Given the description of an element on the screen output the (x, y) to click on. 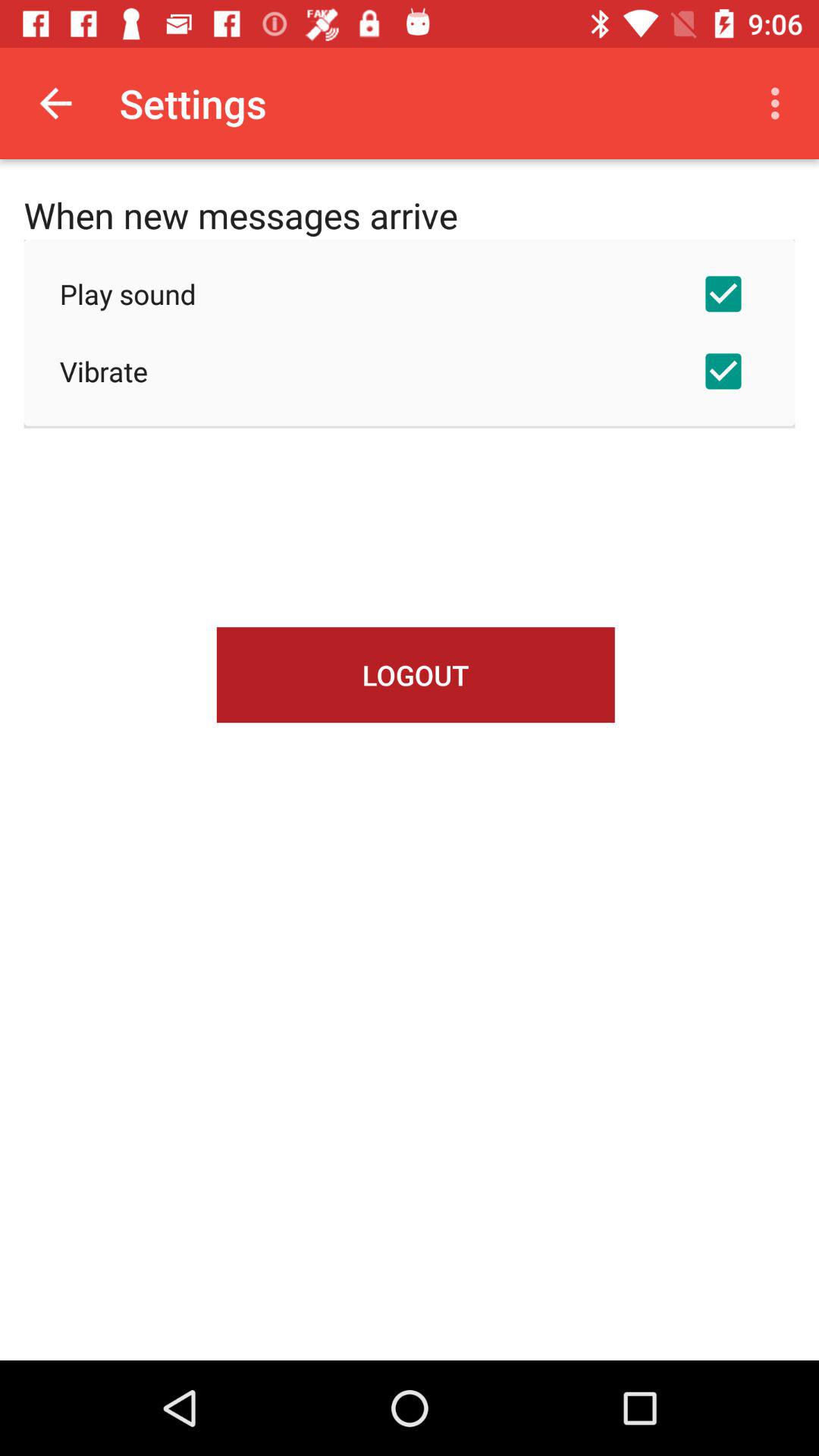
jump until the logout (415, 674)
